Given the description of an element on the screen output the (x, y) to click on. 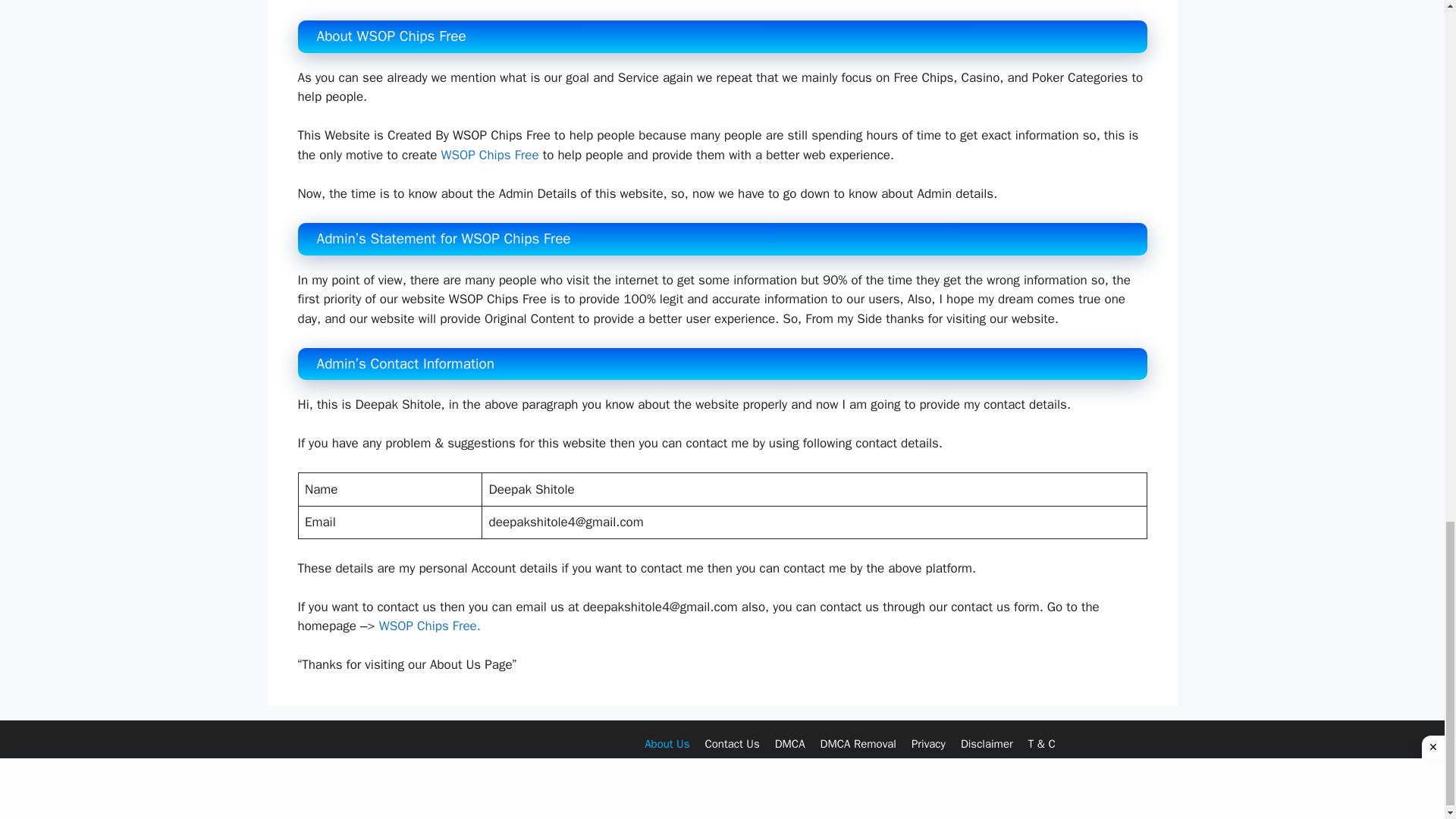
WSOP Chips Free (489, 154)
Privacy (927, 744)
DMCA Removal (858, 744)
Disclaimer (986, 744)
WSOP Chips Free (427, 625)
About Us (666, 744)
Contact Us (731, 744)
DMCA (789, 744)
